Given the description of an element on the screen output the (x, y) to click on. 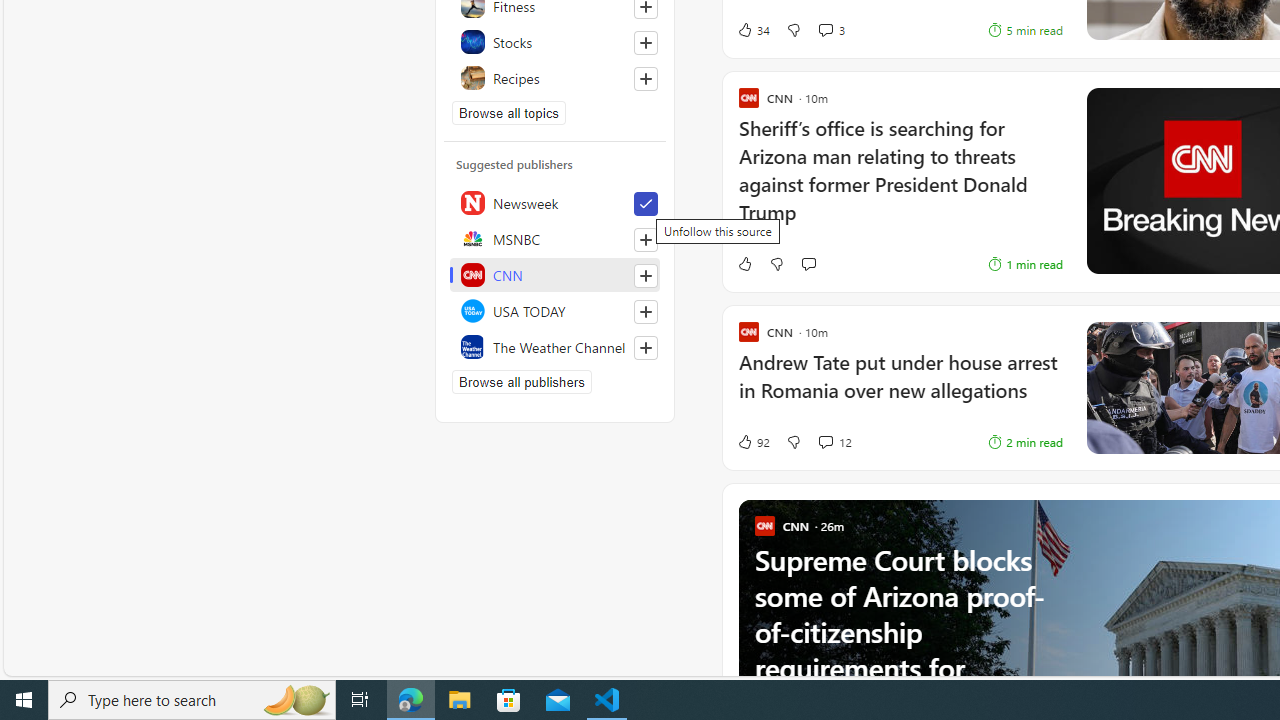
USA TODAY (555, 310)
Start the conversation (808, 264)
Browse all publishers (521, 381)
Follow this topic (645, 78)
Follow this source (645, 348)
92 Like (753, 442)
Dislike (793, 442)
MSNBC (555, 238)
View comments 3 Comment (825, 30)
Browse all topics (509, 112)
34 Like (753, 30)
